Given the description of an element on the screen output the (x, y) to click on. 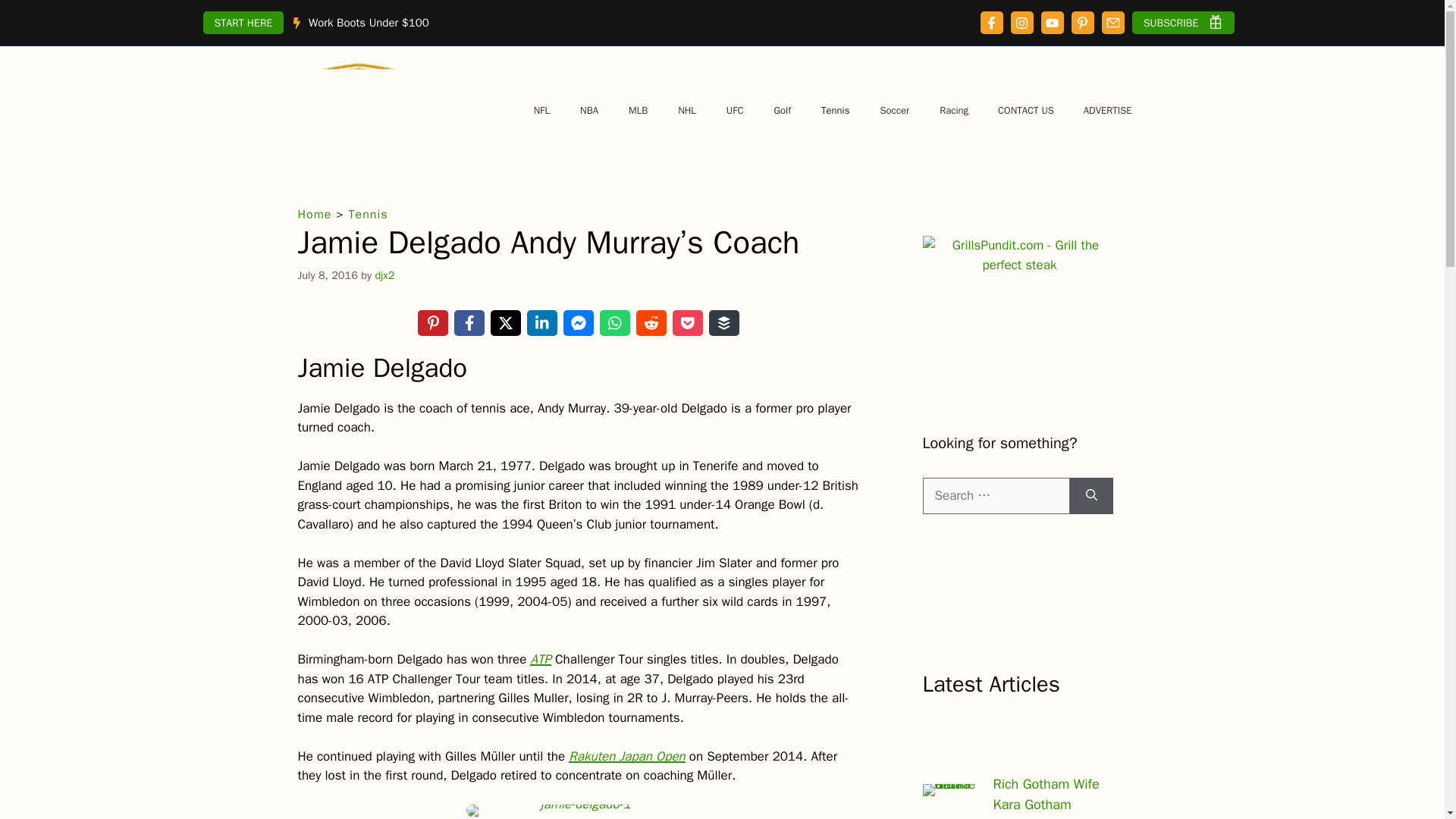
NBA (588, 110)
Tennis (835, 110)
ADVERTISE (1107, 110)
NFL (541, 110)
START HERE (243, 22)
SUBSCRIBE (1183, 22)
djx2 (384, 274)
Soccer (894, 110)
MLB (637, 110)
Racing (954, 110)
